Given the description of an element on the screen output the (x, y) to click on. 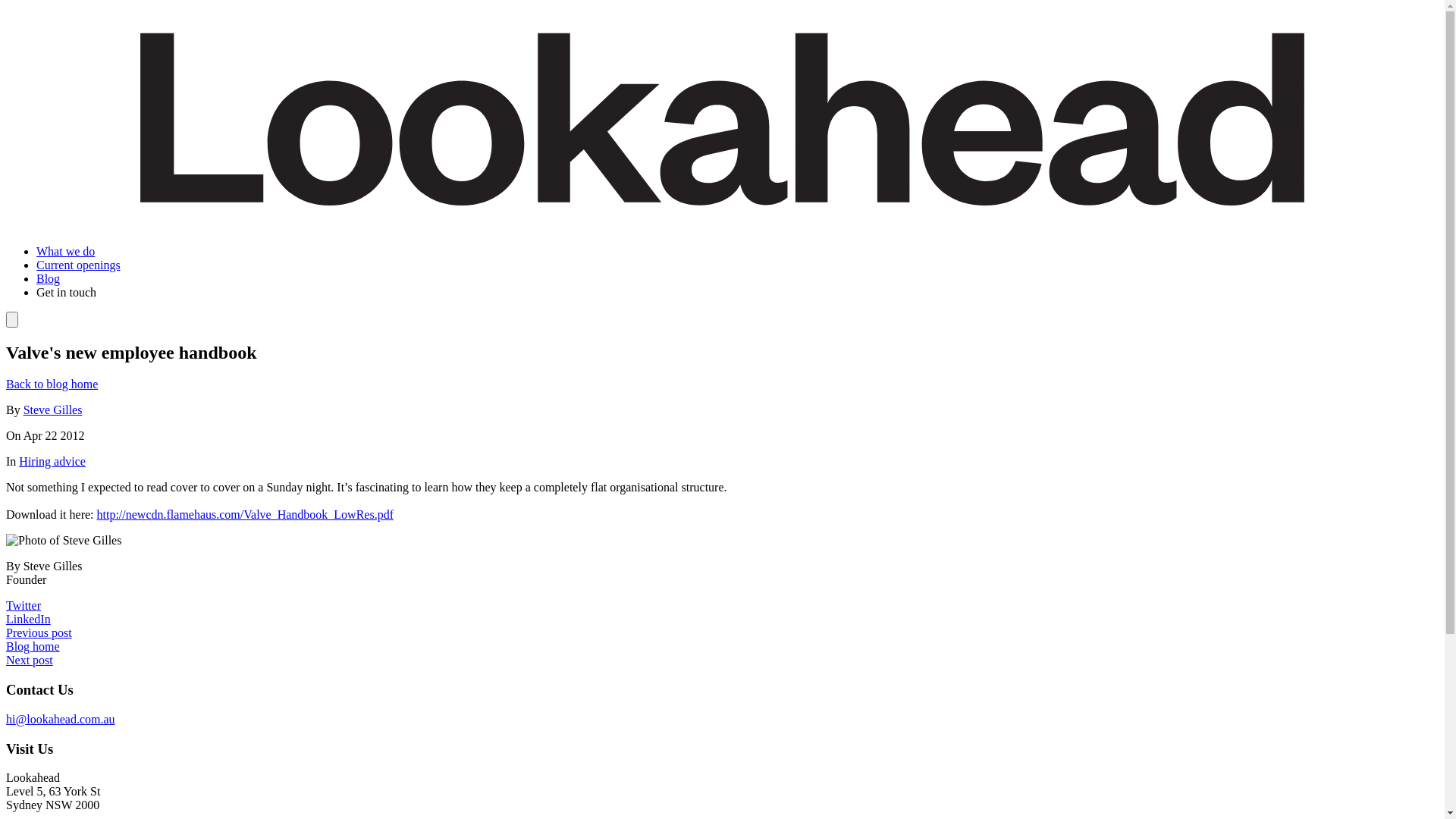
http://newcdn.flamehaus.com/Valve_Handbook_LowRes.pdf Element type: text (245, 514)
Back to blog home Element type: text (51, 383)
Blog home Element type: text (32, 646)
Blog Element type: text (47, 278)
LinkedIn Element type: text (28, 618)
What we do Element type: text (65, 250)
Get in touch Element type: text (66, 291)
Current openings Element type: text (78, 264)
Steve Gilles Element type: text (52, 409)
Next post Element type: text (29, 659)
Twitter Element type: text (23, 605)
Hiring advice Element type: text (51, 461)
hi@lookahead.com.au Element type: text (60, 718)
Previous post Element type: text (39, 632)
